Given the description of an element on the screen output the (x, y) to click on. 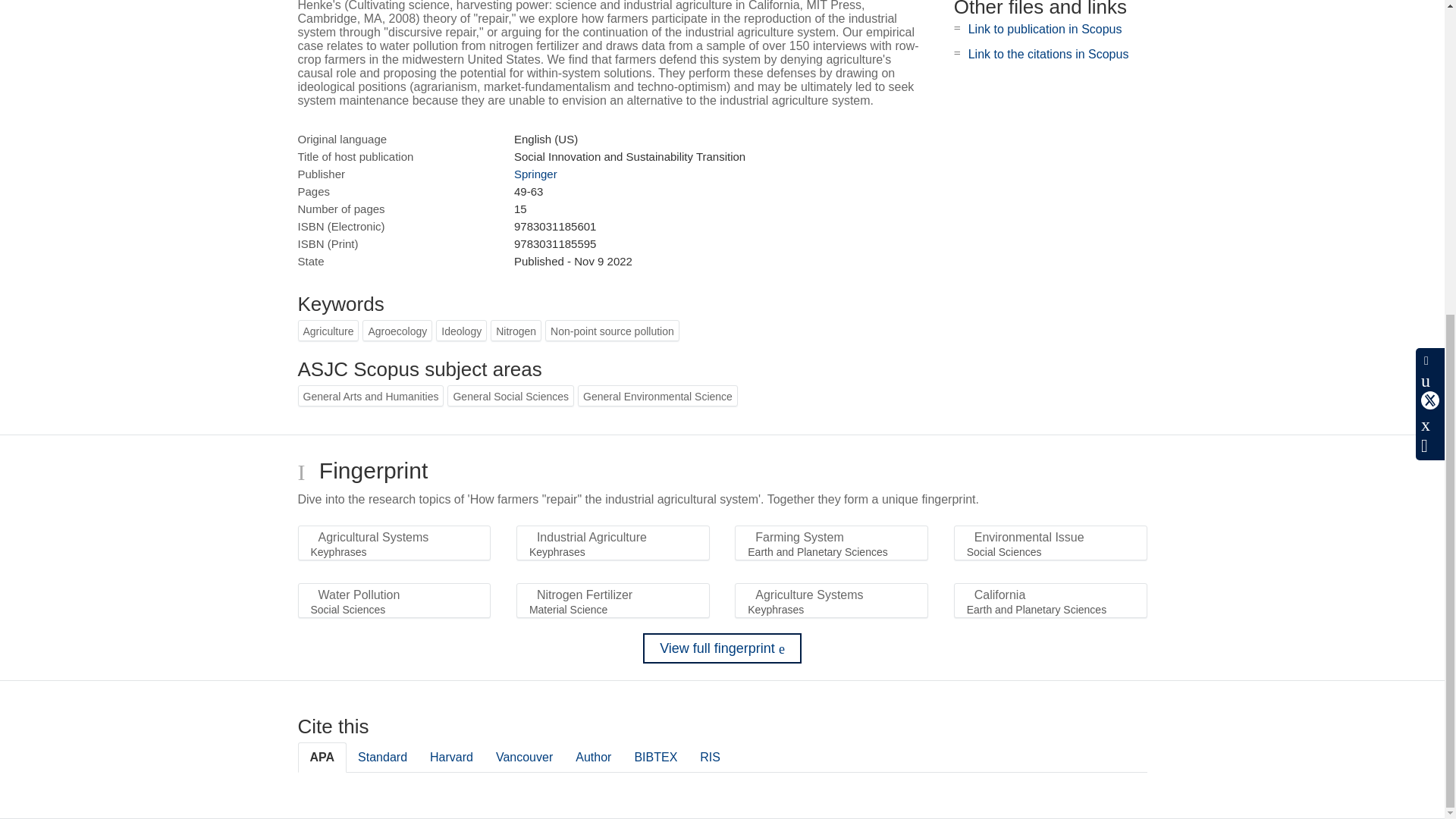
Link to publication in Scopus (1045, 29)
View full fingerprint (722, 648)
Link to the citations in Scopus (1048, 53)
Springer (535, 173)
